Given the description of an element on the screen output the (x, y) to click on. 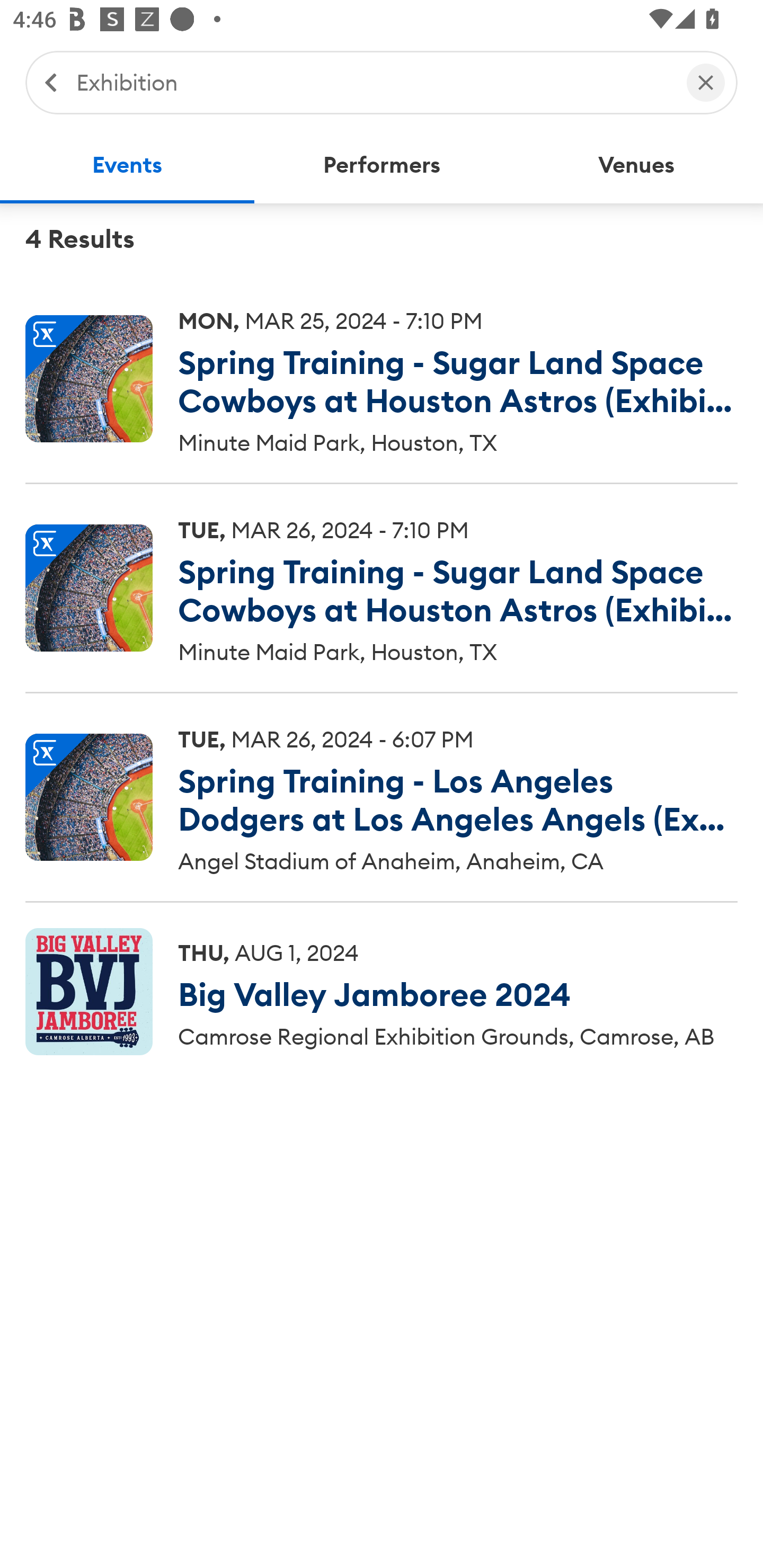
Exhibition (371, 81)
Clear Search (705, 81)
Performers (381, 165)
Venues (635, 165)
